Given the description of an element on the screen output the (x, y) to click on. 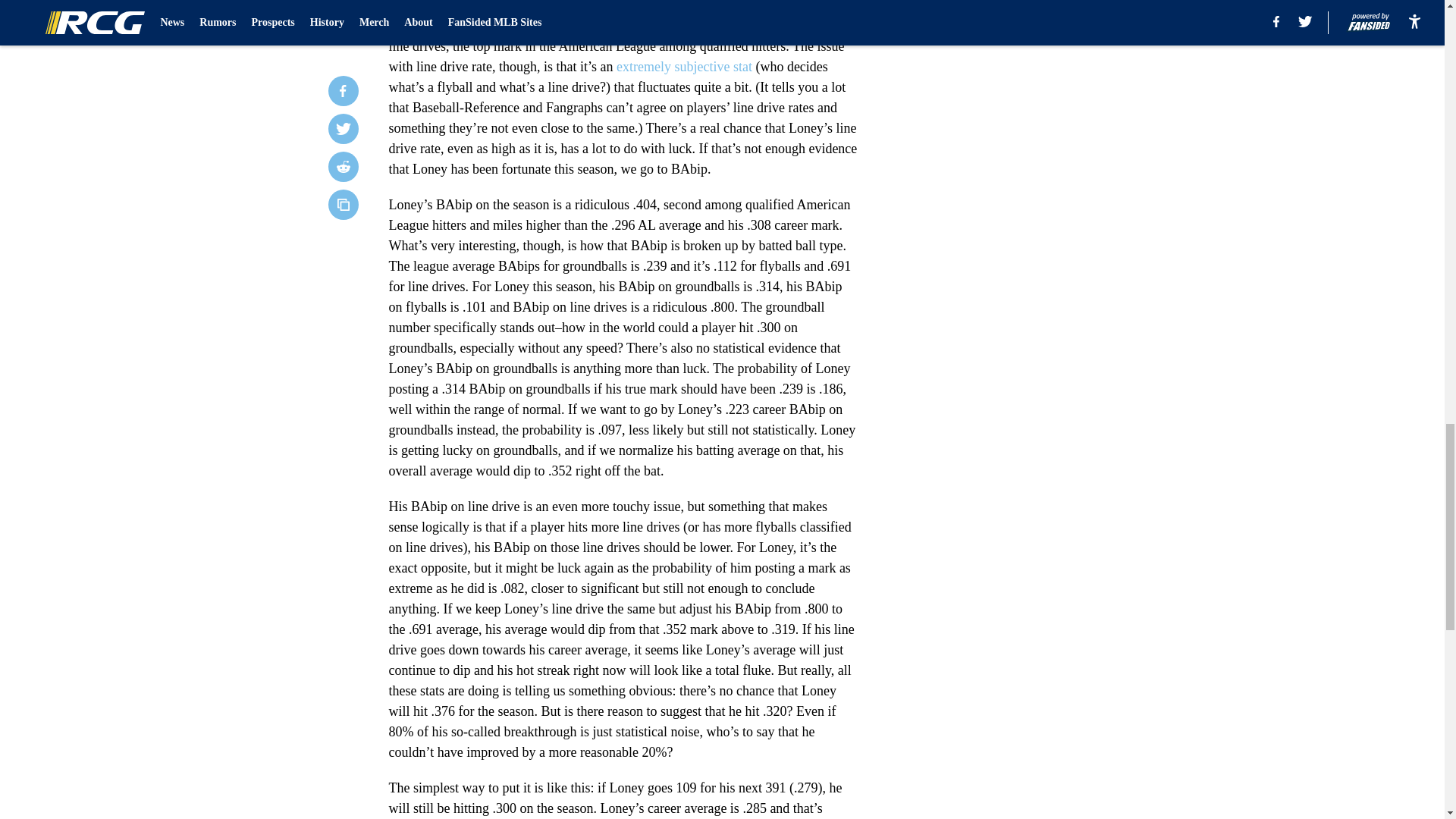
extremely subjective stat (683, 66)
